Given the description of an element on the screen output the (x, y) to click on. 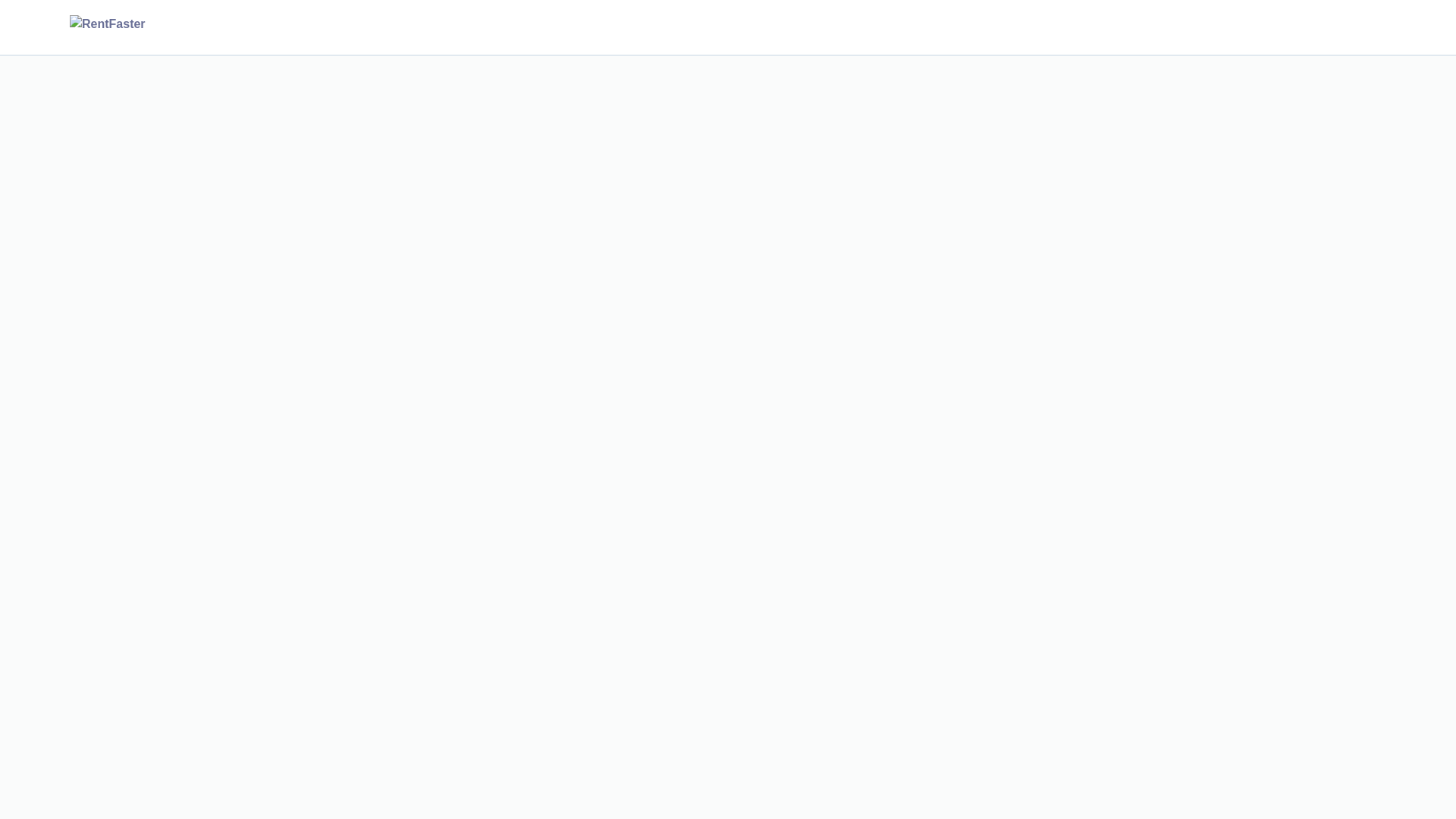
RentFaster.ca (132, 26)
